Given the description of an element on the screen output the (x, y) to click on. 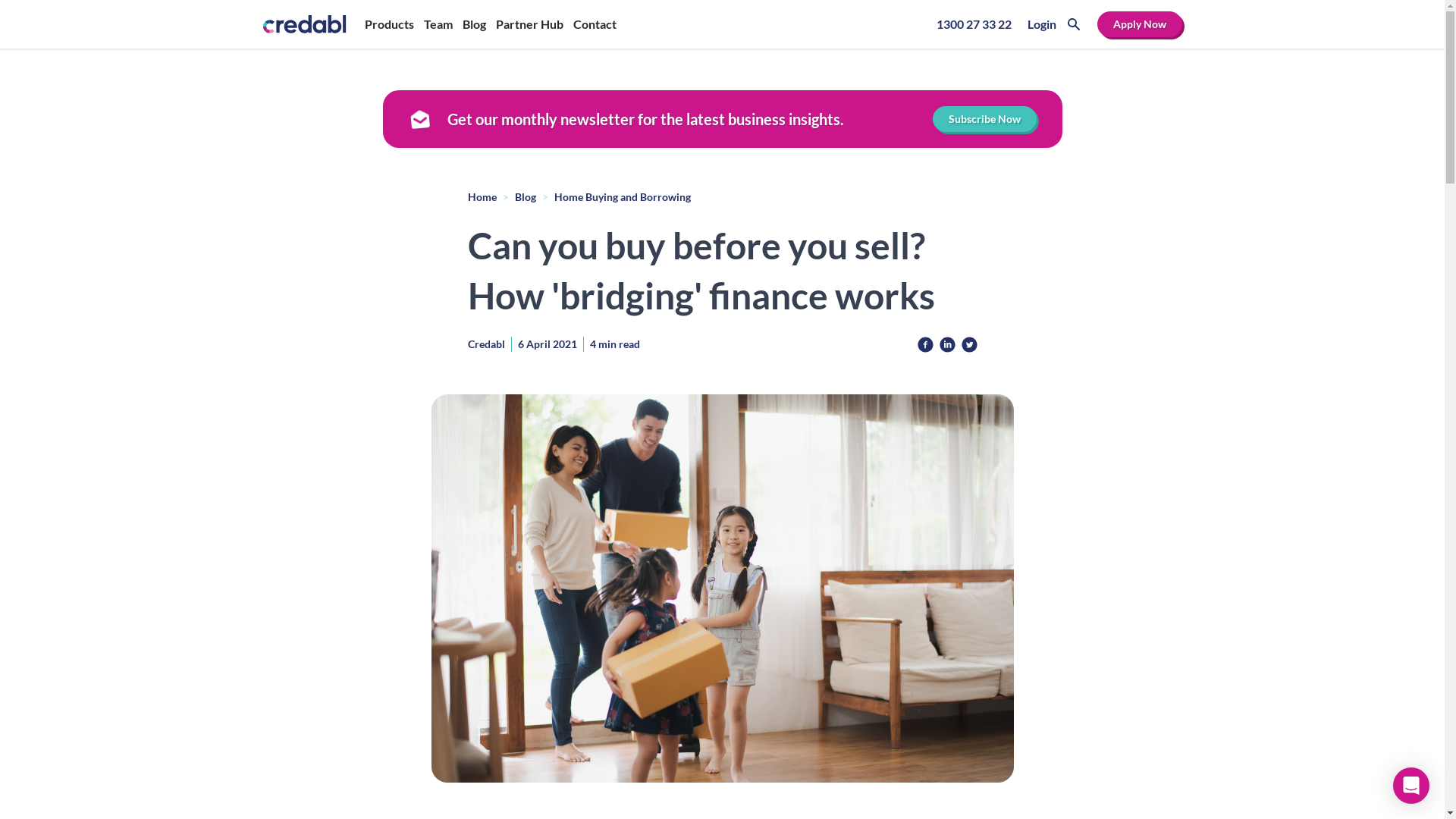
Partner Hub Element type: text (529, 24)
Team Element type: text (437, 24)
Home Buying and Borrowing Element type: text (621, 196)
Apply Now Element type: text (1138, 24)
Search Element type: text (1073, 23)
Blog Element type: text (524, 196)
Login Element type: text (1040, 24)
Subscribe Now Element type: text (984, 118)
1300 27 33 22 Element type: text (972, 24)
Home Element type: text (481, 196)
Blog Element type: text (474, 24)
Contact Element type: text (594, 24)
Products Element type: text (389, 24)
